Given the description of an element on the screen output the (x, y) to click on. 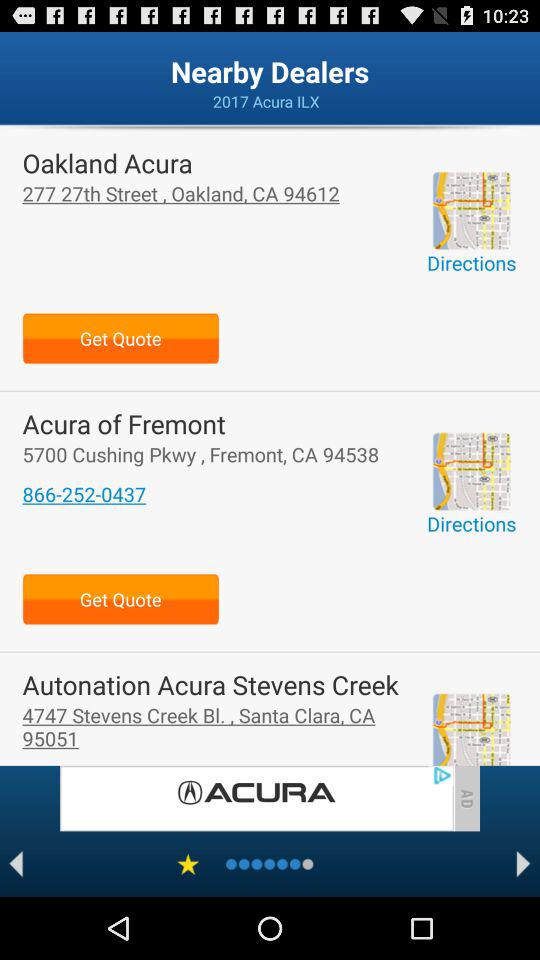
favorite options (188, 864)
